Given the description of an element on the screen output the (x, y) to click on. 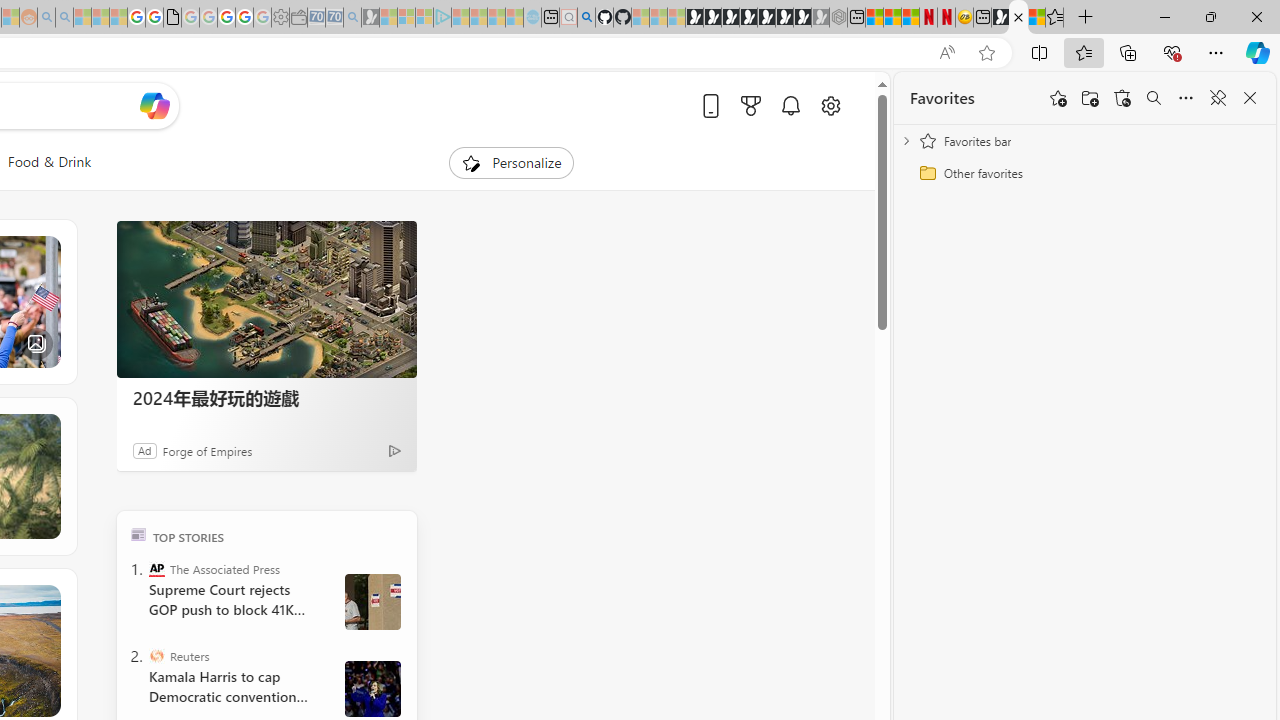
Add folder (1089, 98)
World - MSN (1017, 17)
Search favorites (1153, 98)
Reuters (156, 655)
